Given the description of an element on the screen output the (x, y) to click on. 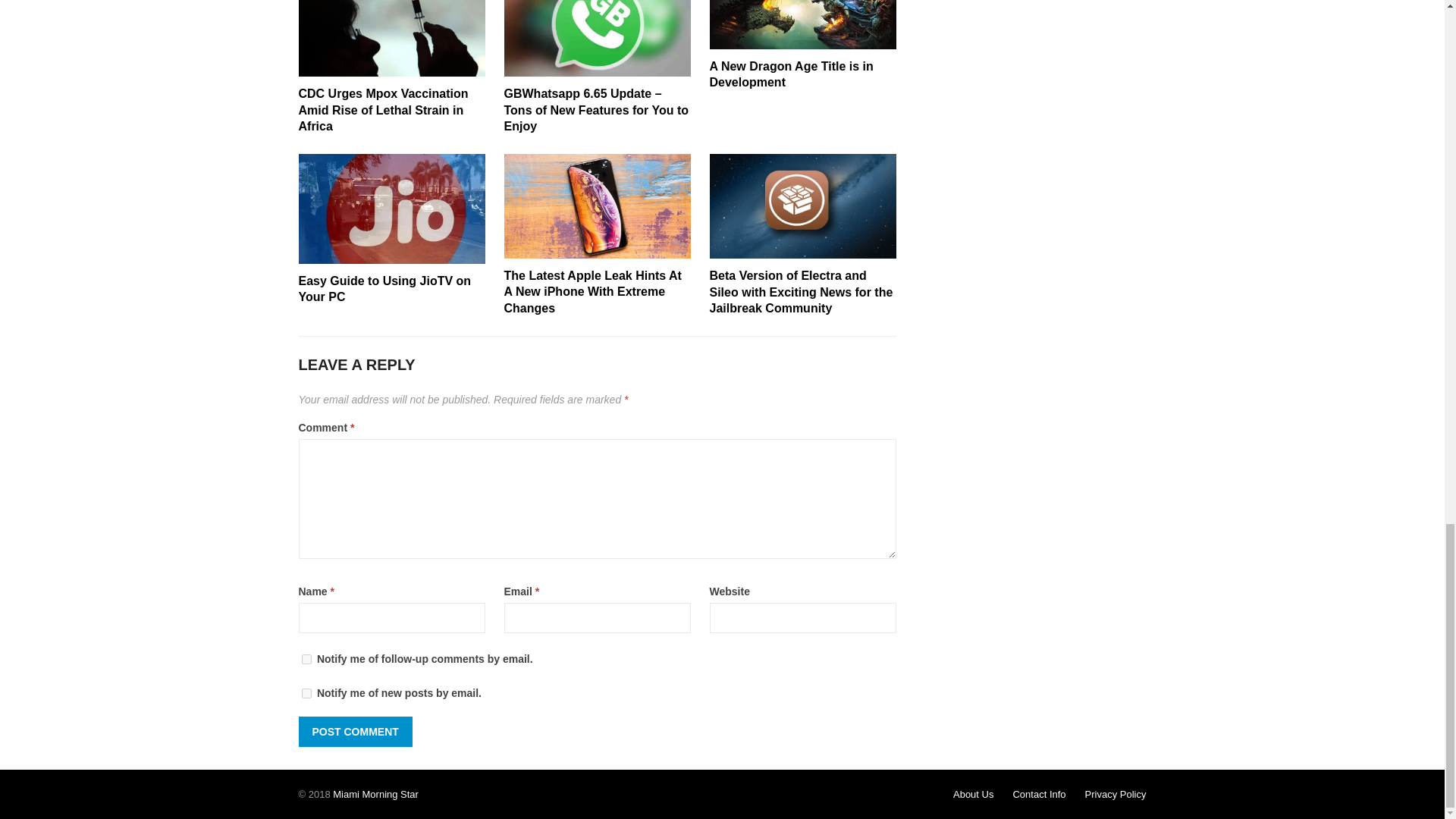
subscribe (306, 693)
subscribe (306, 659)
A New Dragon Age Title is in Development (791, 74)
Post Comment (355, 731)
